Given the description of an element on the screen output the (x, y) to click on. 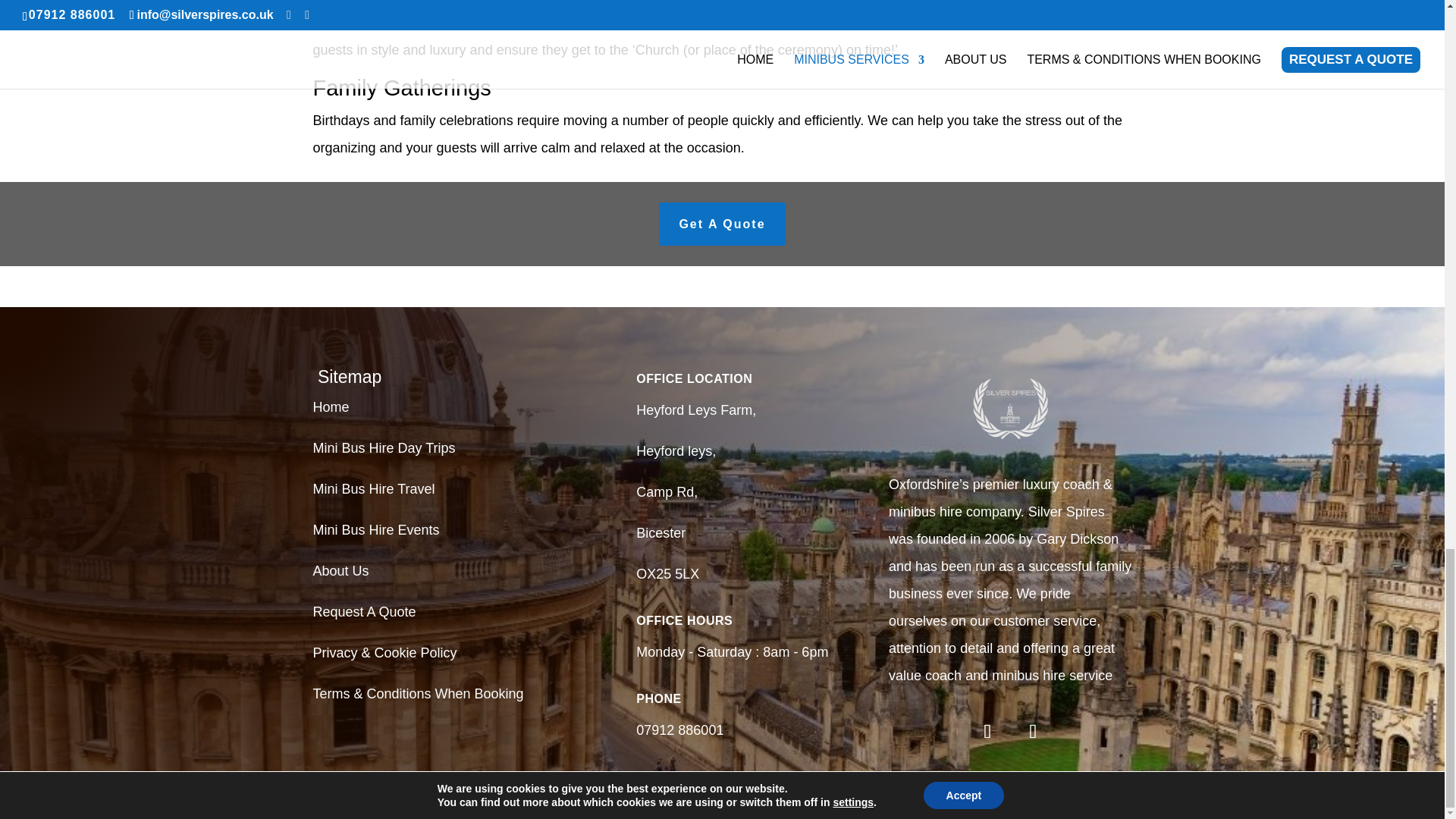
Mini Bus Hire Events (376, 529)
Mini Bus Hire Day Trips (383, 447)
Get A Quote (721, 223)
Home (331, 406)
Follow on Facebook (987, 731)
Request A Quote (363, 611)
Follow on Instagram (1032, 731)
Mini Bus Hire Travel (373, 488)
About Us (340, 570)
07912 886001 (679, 729)
